Given the description of an element on the screen output the (x, y) to click on. 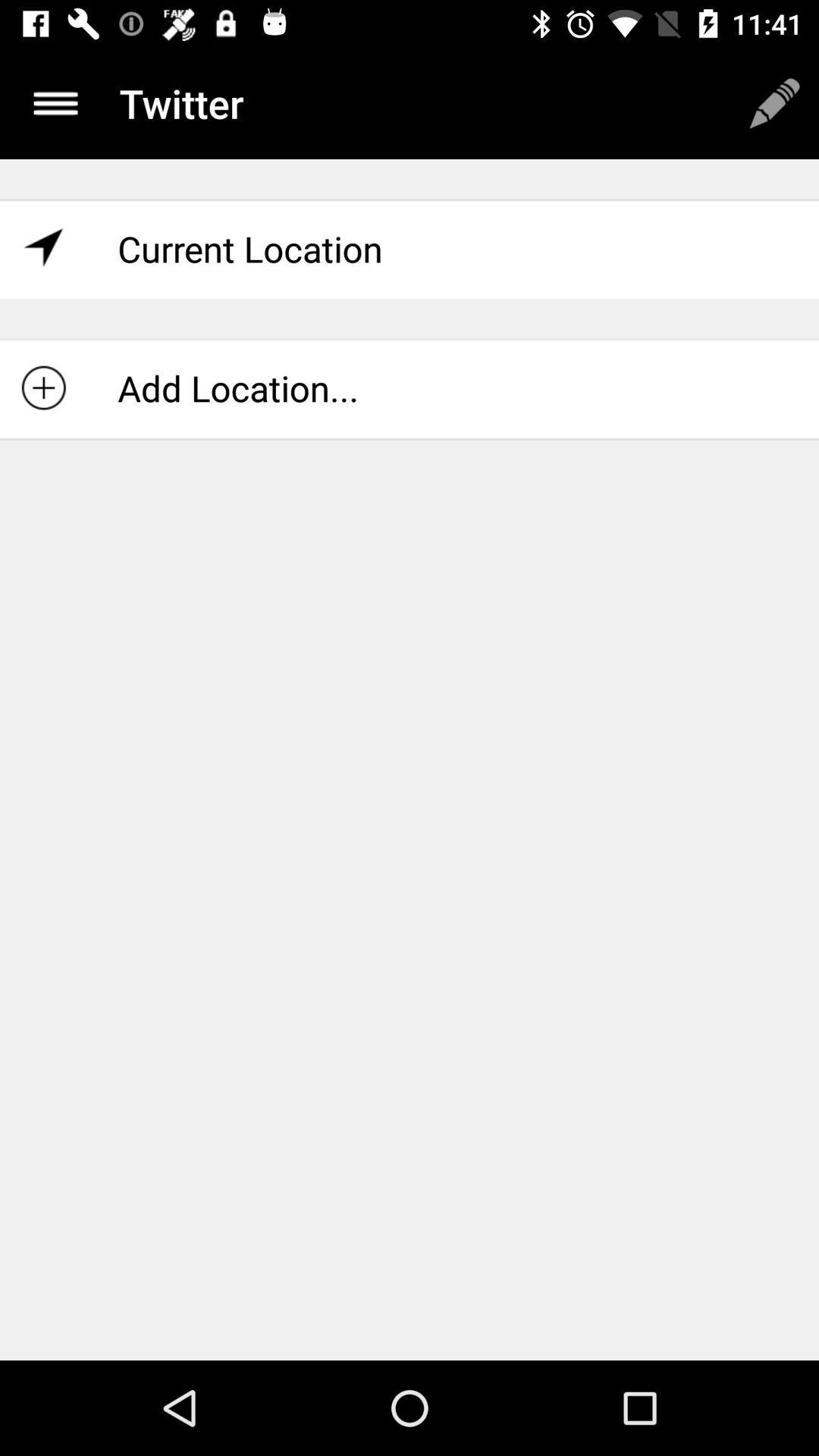
tap app to the left of the twitter app (55, 103)
